Given the description of an element on the screen output the (x, y) to click on. 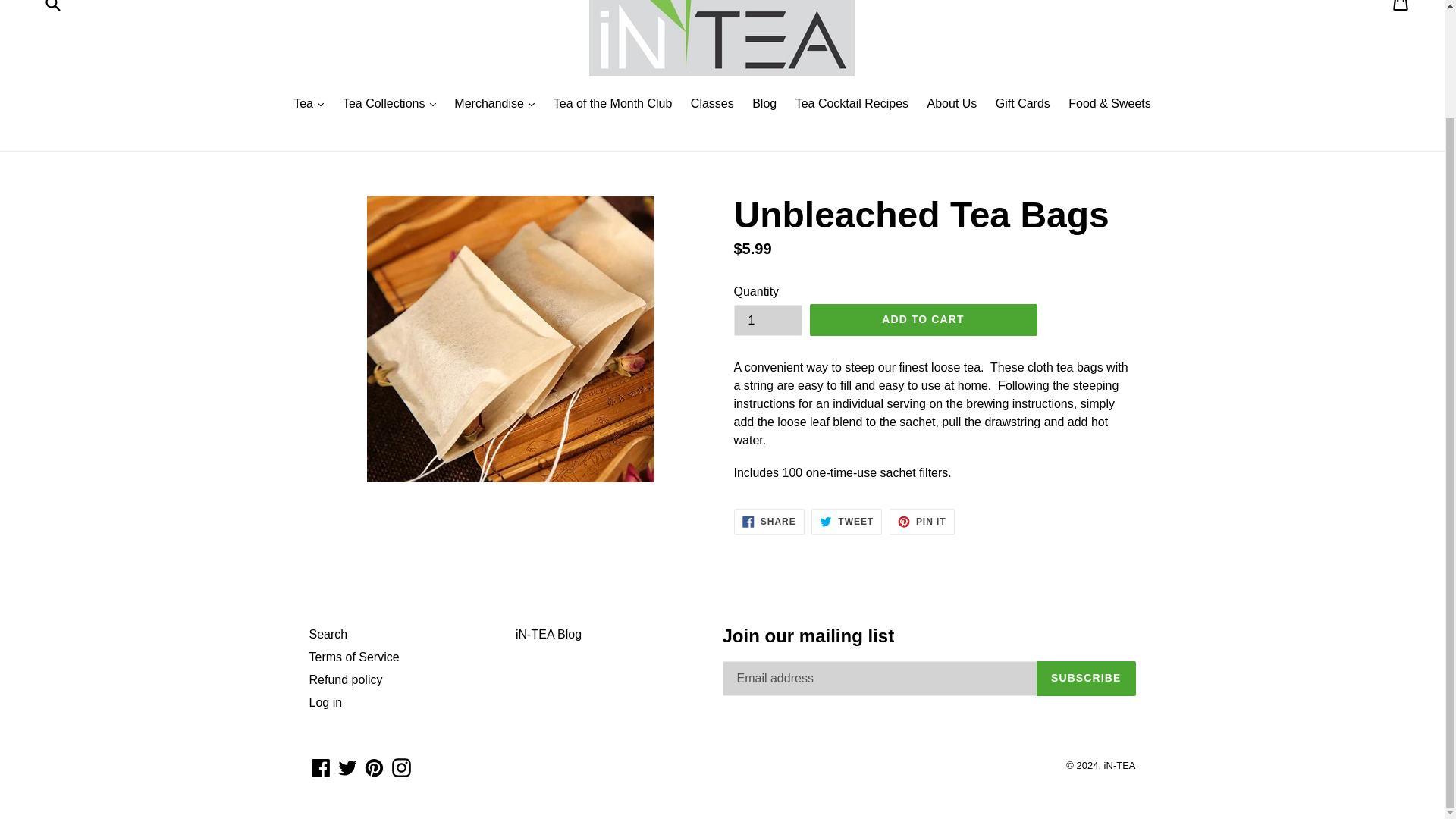
iN-TEA on Facebook (320, 767)
1 (767, 319)
iN-TEA on Pinterest (373, 767)
iN-TEA on Instagram (401, 767)
iN-TEA on Twitter (347, 767)
Share on Facebook (769, 521)
Tweet on Twitter (846, 521)
Pin on Pinterest (922, 521)
